Given the description of an element on the screen output the (x, y) to click on. 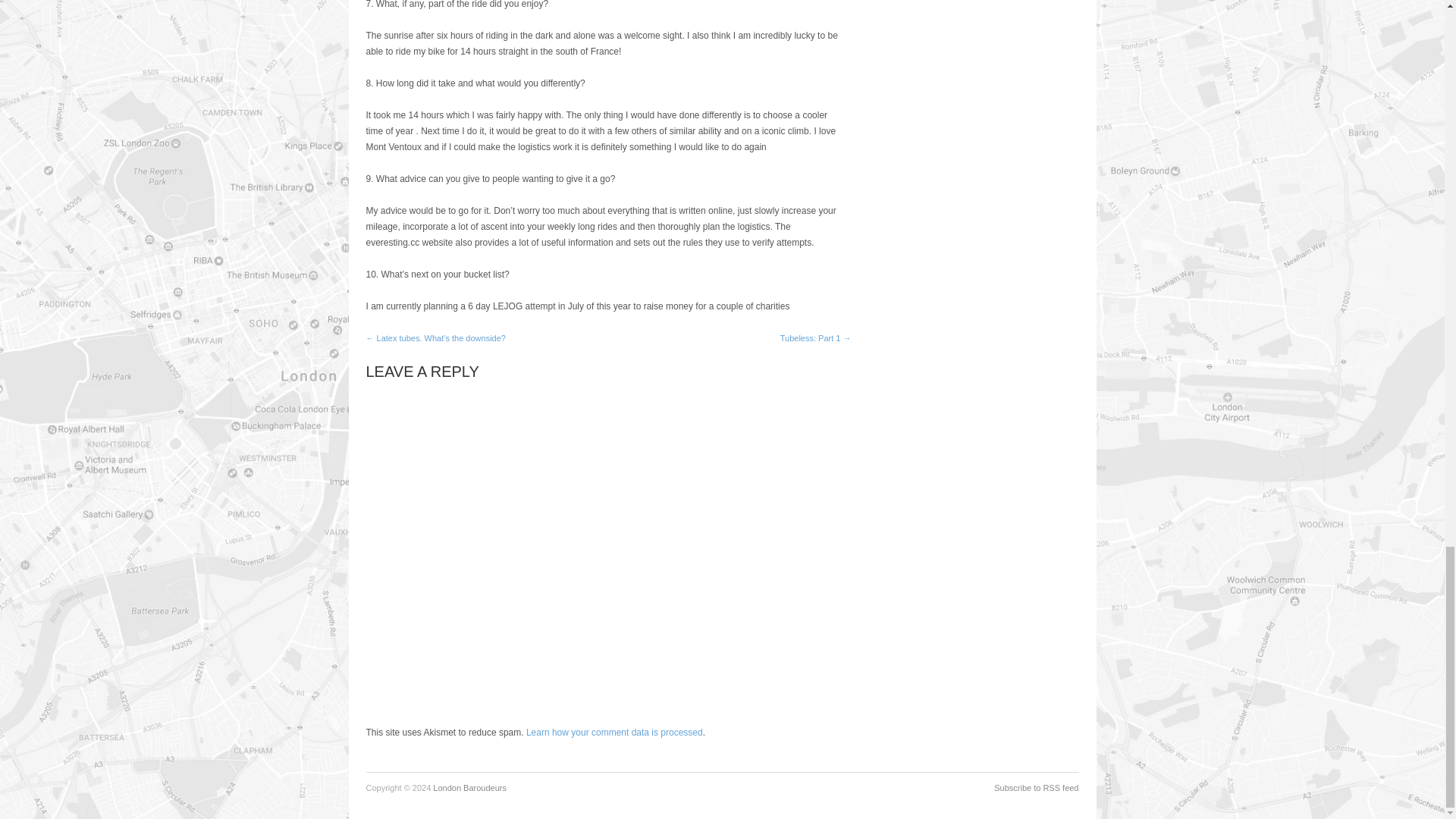
Subscribe to RSS feed (1036, 787)
London Baroudeurs (469, 787)
Learn how your comment data is processed (614, 732)
London Baroudeurs (469, 787)
